Given the description of an element on the screen output the (x, y) to click on. 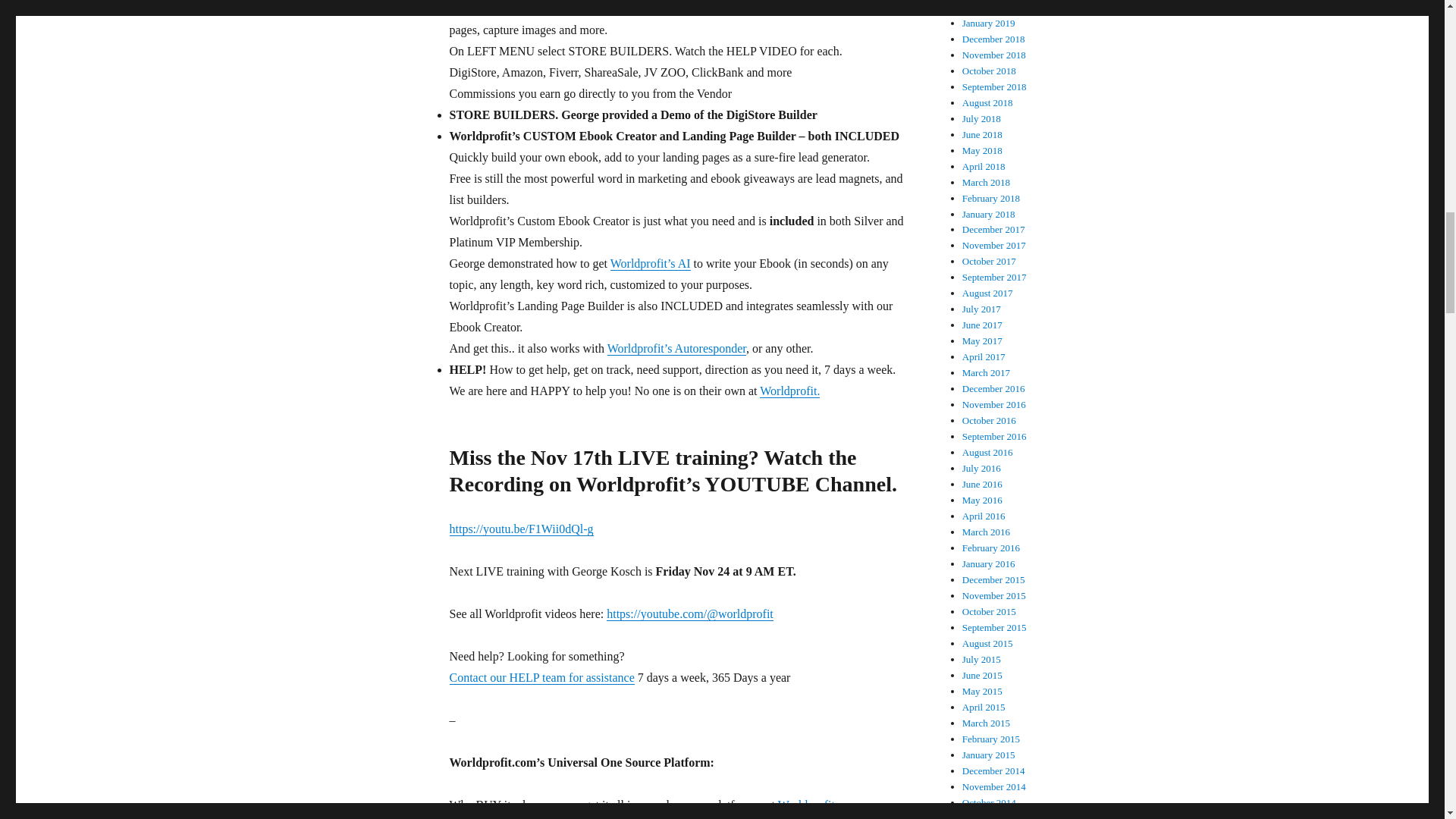
Contact our HELP team for assistance (540, 676)
Worldprofit. (789, 390)
Worldprofit.com (818, 804)
